Given the description of an element on the screen output the (x, y) to click on. 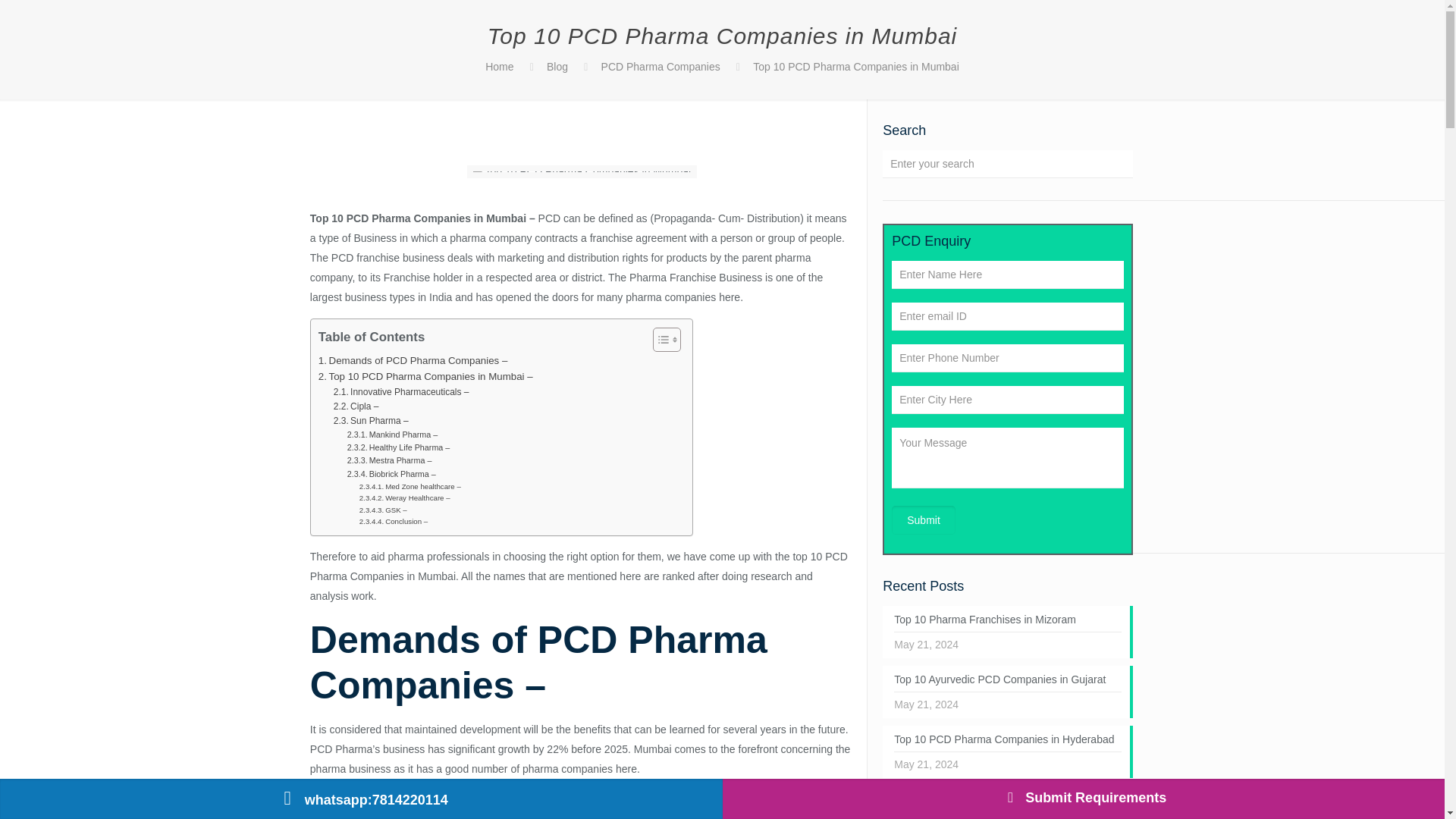
Top 10 PCD Pharma Companies in Mumbai (855, 66)
Submit (923, 520)
Submit (923, 520)
PCD Pharma Companies (660, 66)
Blog (557, 66)
Home (498, 66)
